Given the description of an element on the screen output the (x, y) to click on. 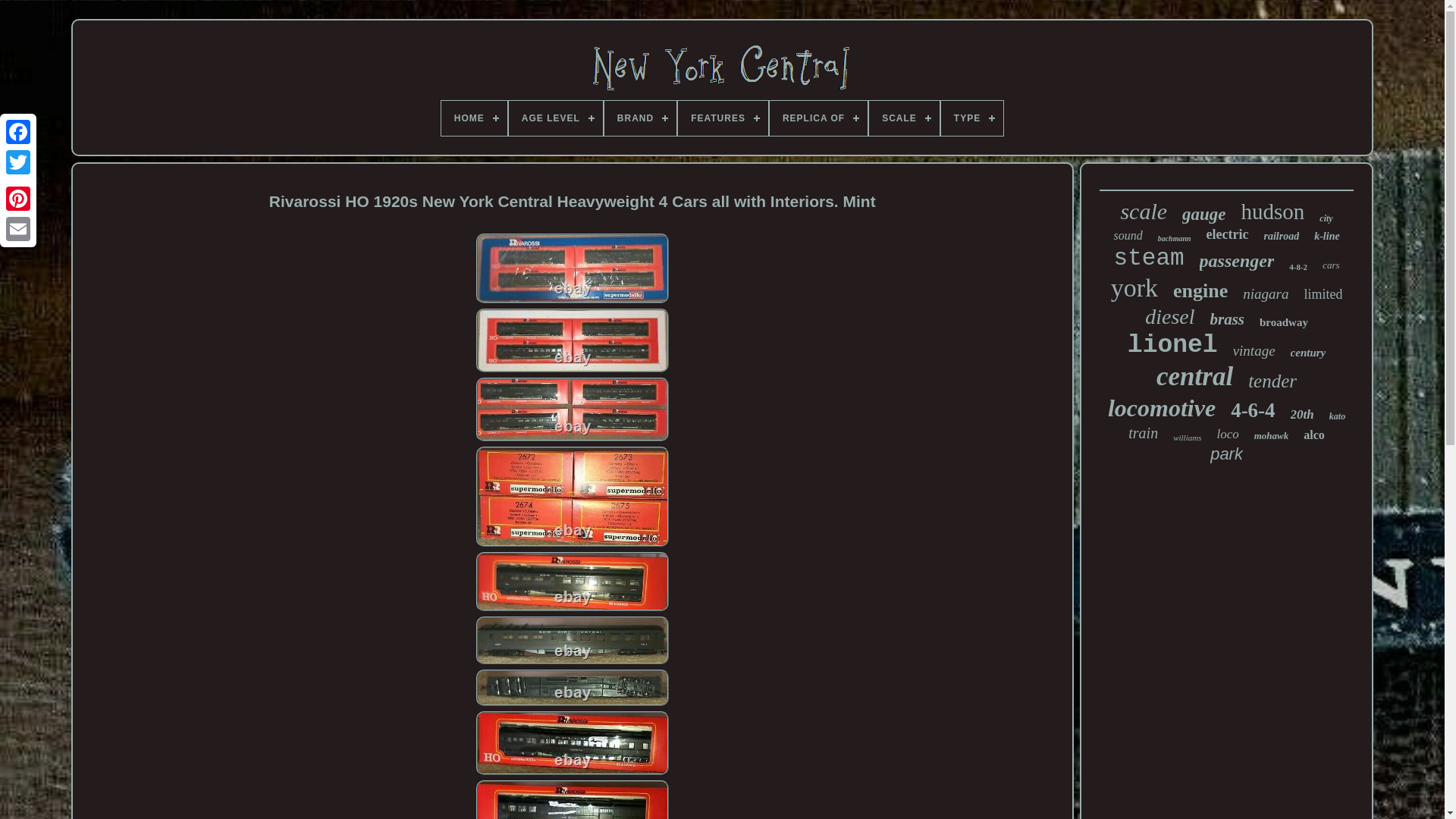
AGE LEVEL (555, 117)
HOME (473, 117)
